Given the description of an element on the screen output the (x, y) to click on. 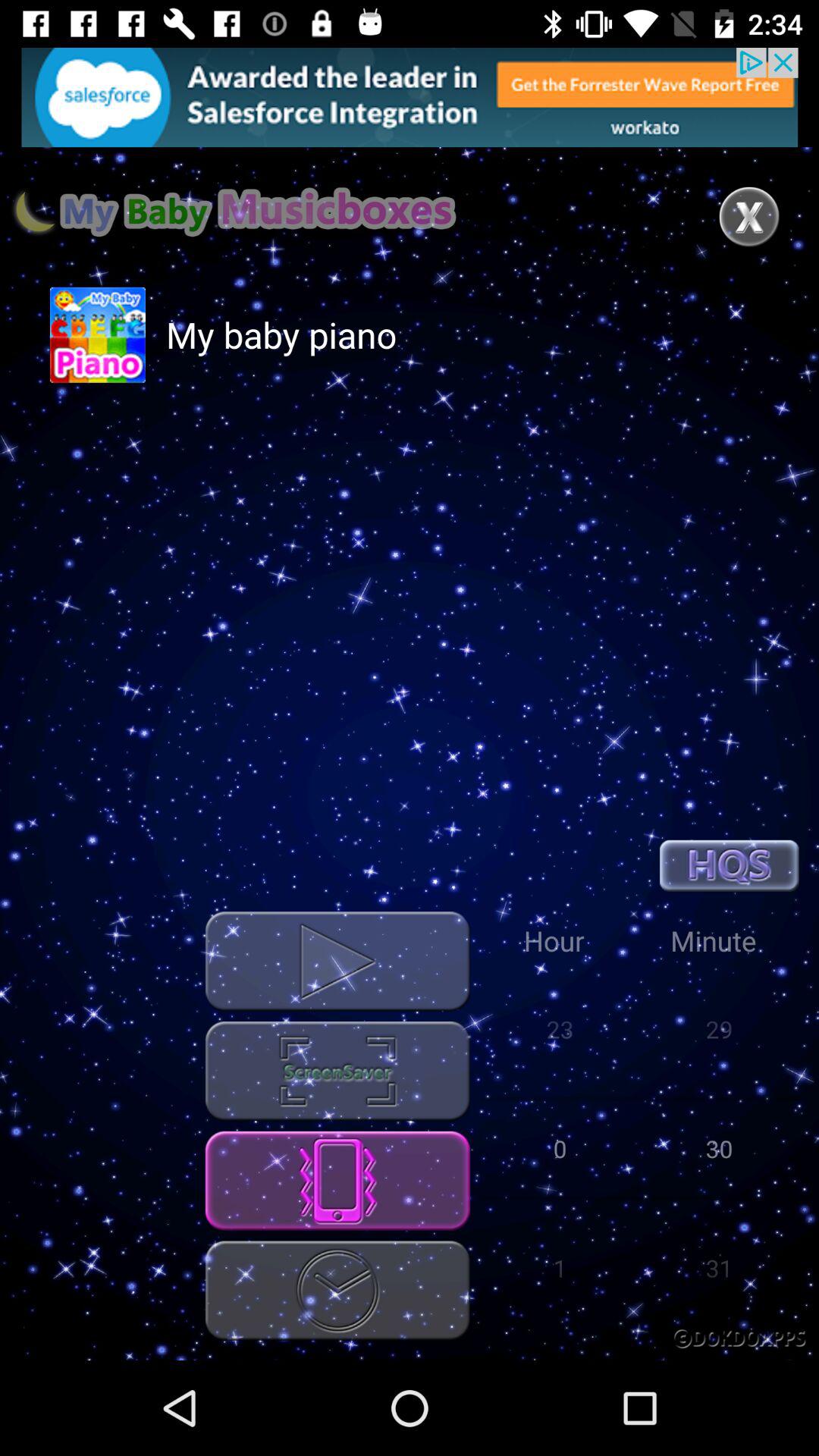
play music (337, 961)
